Given the description of an element on the screen output the (x, y) to click on. 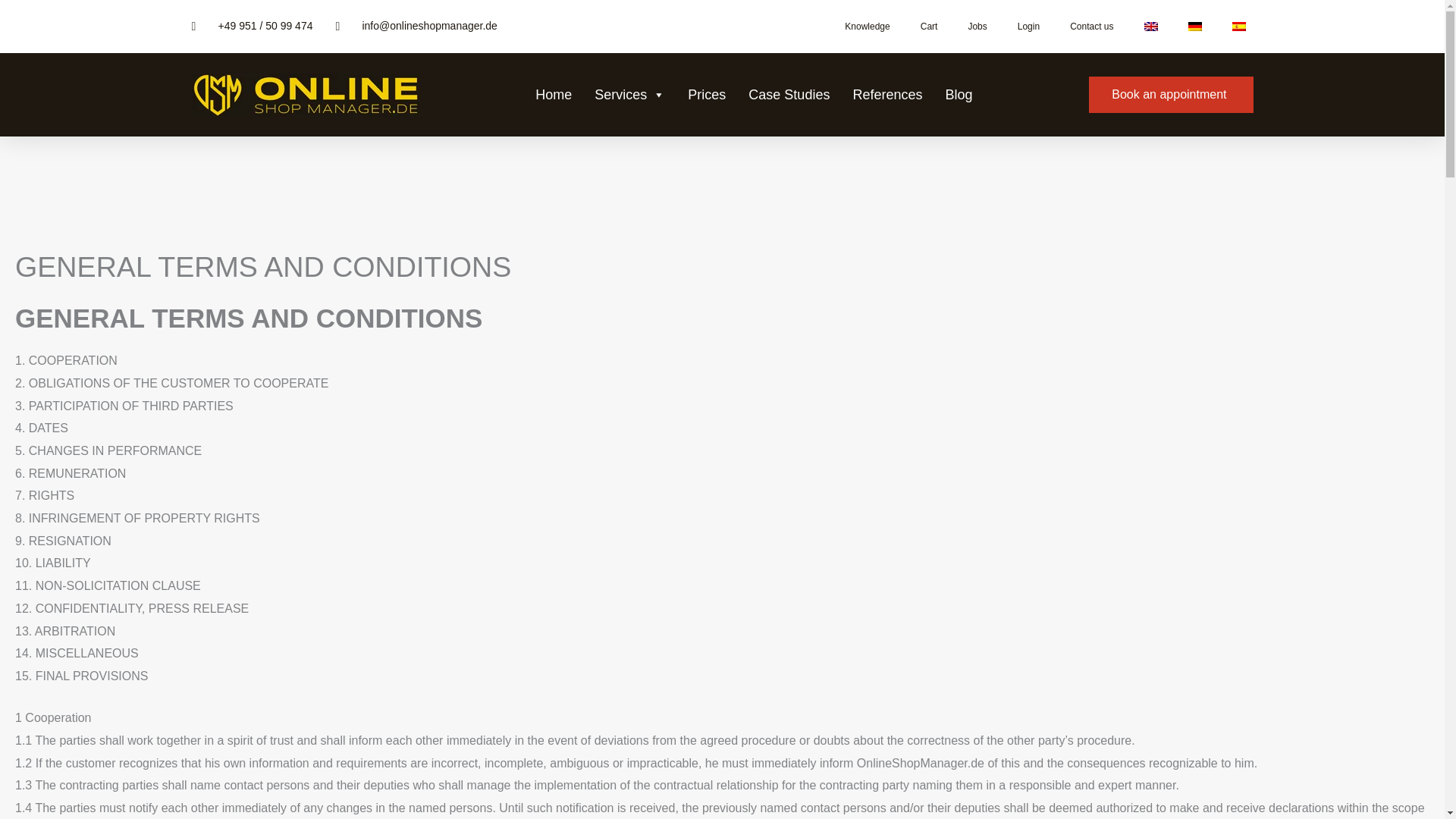
Contact us (1091, 26)
Cart (929, 26)
Login (1028, 26)
Jobs (976, 26)
Services (630, 94)
Home (553, 94)
Knowledge (866, 26)
